Given the description of an element on the screen output the (x, y) to click on. 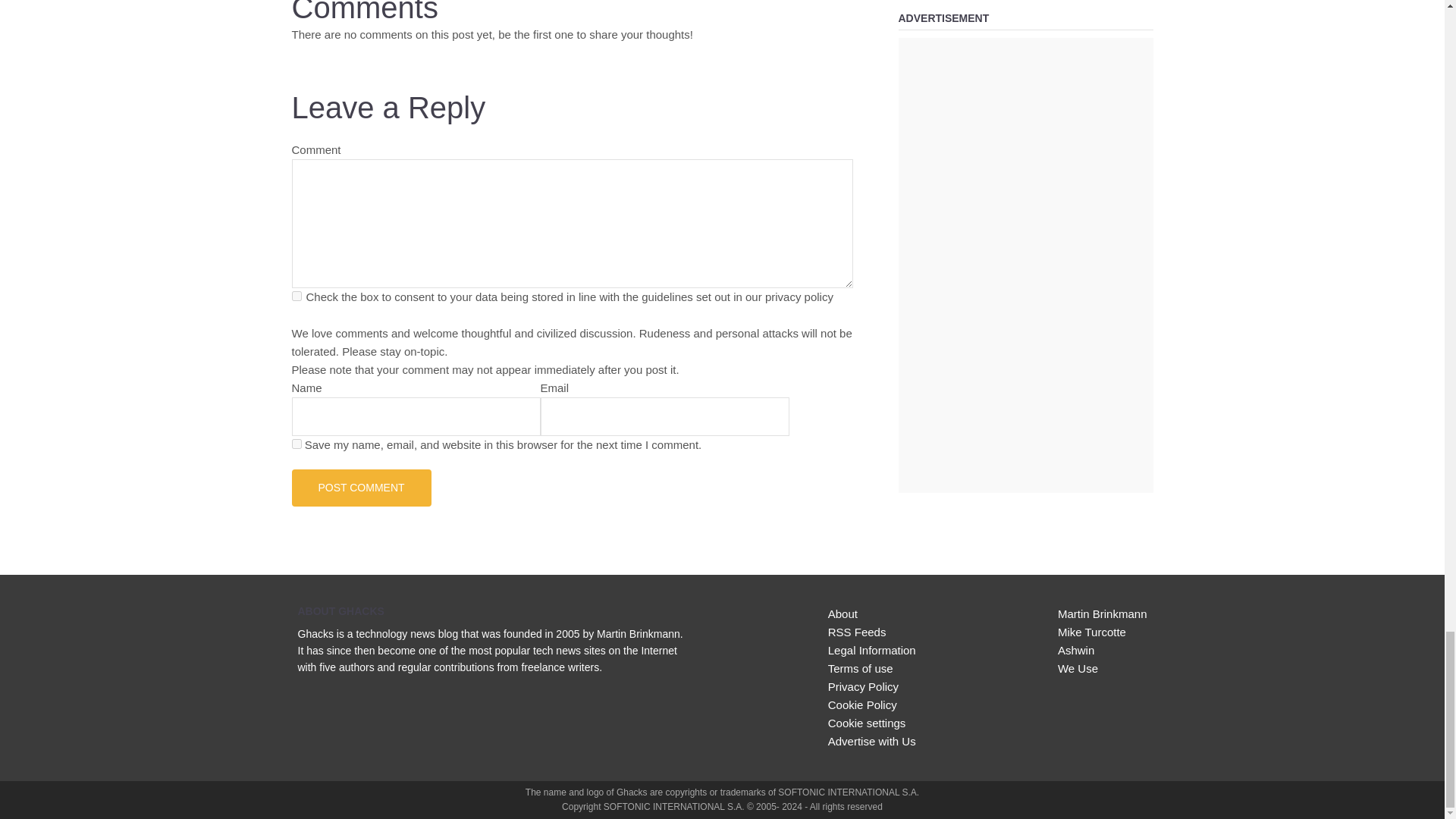
privacy-key (296, 296)
Post Comment (360, 487)
yes (296, 443)
